Given the description of an element on the screen output the (x, y) to click on. 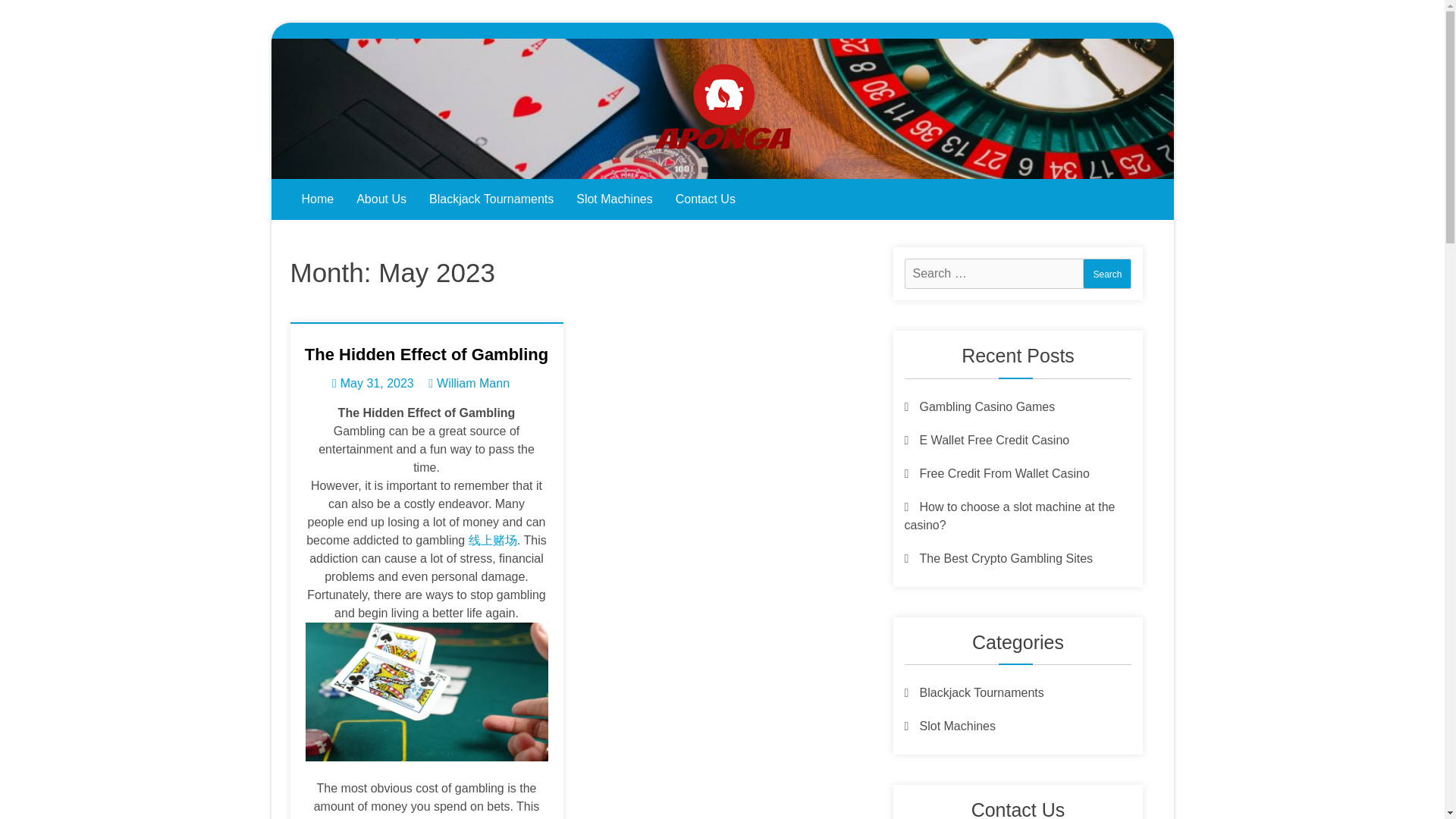
Home (317, 199)
Contact Us (704, 199)
The Hidden Effect of Gambling (426, 353)
Search (1107, 273)
About Us (381, 199)
Search (1107, 273)
Slot Machines (949, 725)
William Mann (472, 382)
Blackjack Tournaments (490, 199)
May 31, 2023 (372, 382)
The Best Crypto Gambling Sites (998, 558)
How to choose a slot machine at the casino? (1009, 515)
Free Credit From Wallet Casino  (998, 472)
Gambling Casino Games (979, 406)
